Given the description of an element on the screen output the (x, y) to click on. 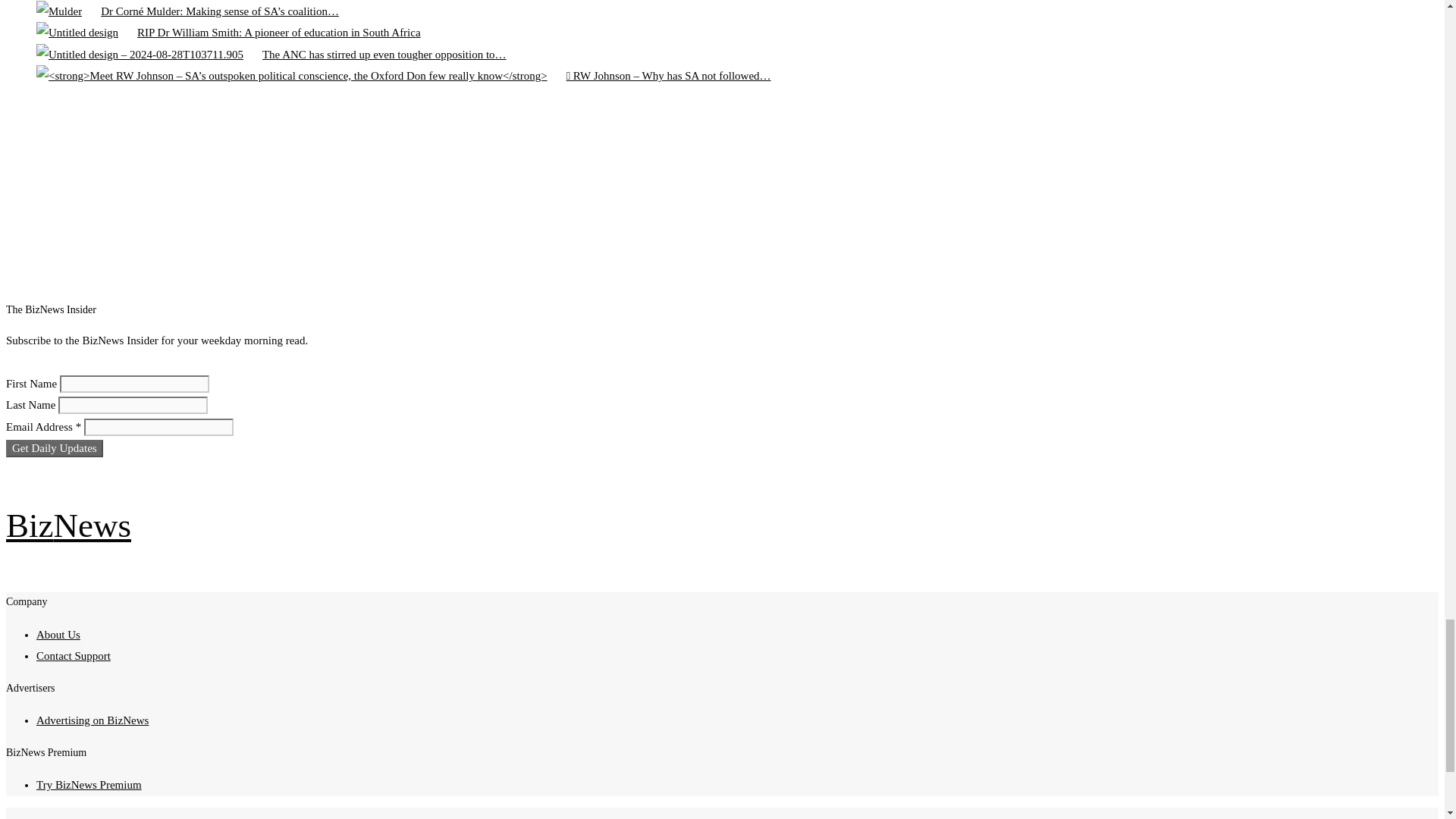
RIP Dr William Smith: A pioneer of education in South Africa (76, 33)
Spotify Embed: BizNews Radio (464, 195)
BizNews (68, 525)
Get Daily Updates (54, 448)
